Given the description of an element on the screen output the (x, y) to click on. 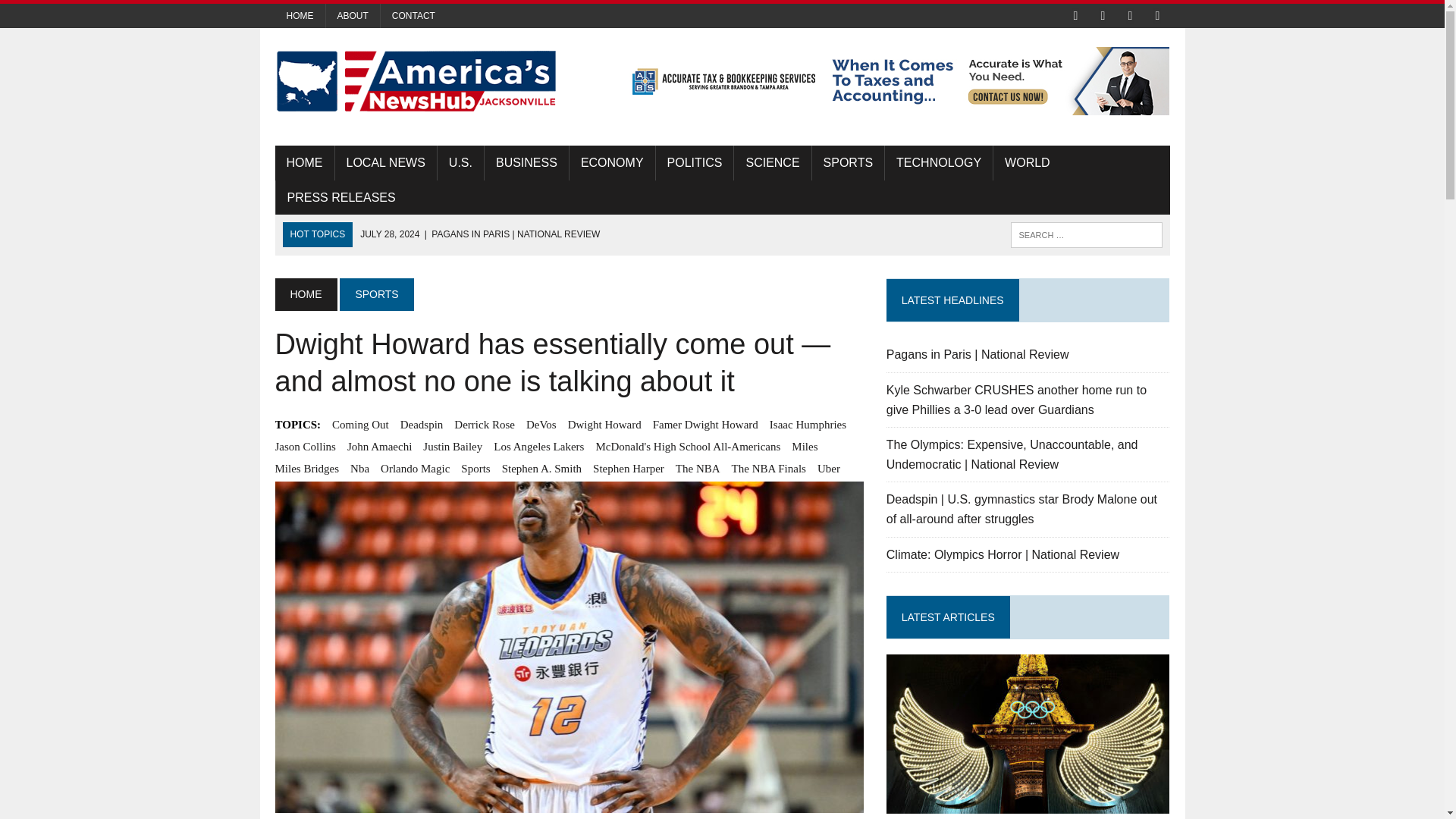
Los Angeles Lakers (538, 446)
Dwight Howard (604, 424)
U.S. (460, 162)
Coming Out (359, 424)
WORLD (1026, 162)
Search (75, 14)
HOME (305, 294)
Derrick Rose (484, 424)
CONTACT (413, 15)
Jason Collins (304, 446)
Justin Bailey (452, 446)
ABOUT (353, 15)
DeVos (540, 424)
SPORTS (376, 294)
John Amaechi (379, 446)
